Given the description of an element on the screen output the (x, y) to click on. 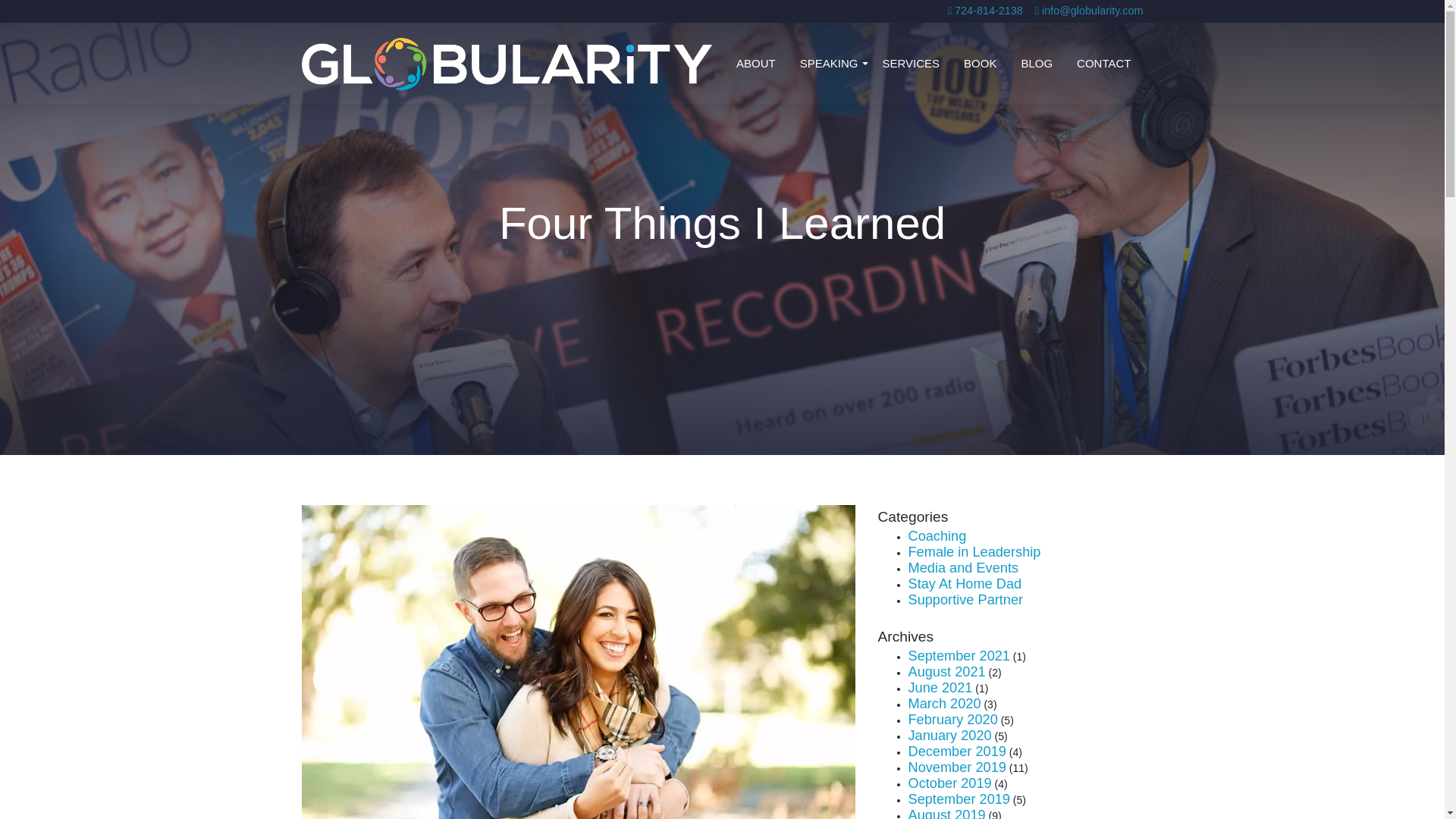
SPEAKING (828, 63)
SERVICES (910, 63)
Contact (1103, 63)
724-814-2138 (985, 10)
BLOG (1036, 63)
About (755, 63)
Media and Events (963, 567)
Coaching (937, 535)
BOOK (980, 63)
Supportive Partner (965, 599)
Services (910, 63)
Stay At Home Dad (965, 583)
Blog (1036, 63)
Speaking (828, 63)
Female in Leadership (974, 551)
